Given the description of an element on the screen output the (x, y) to click on. 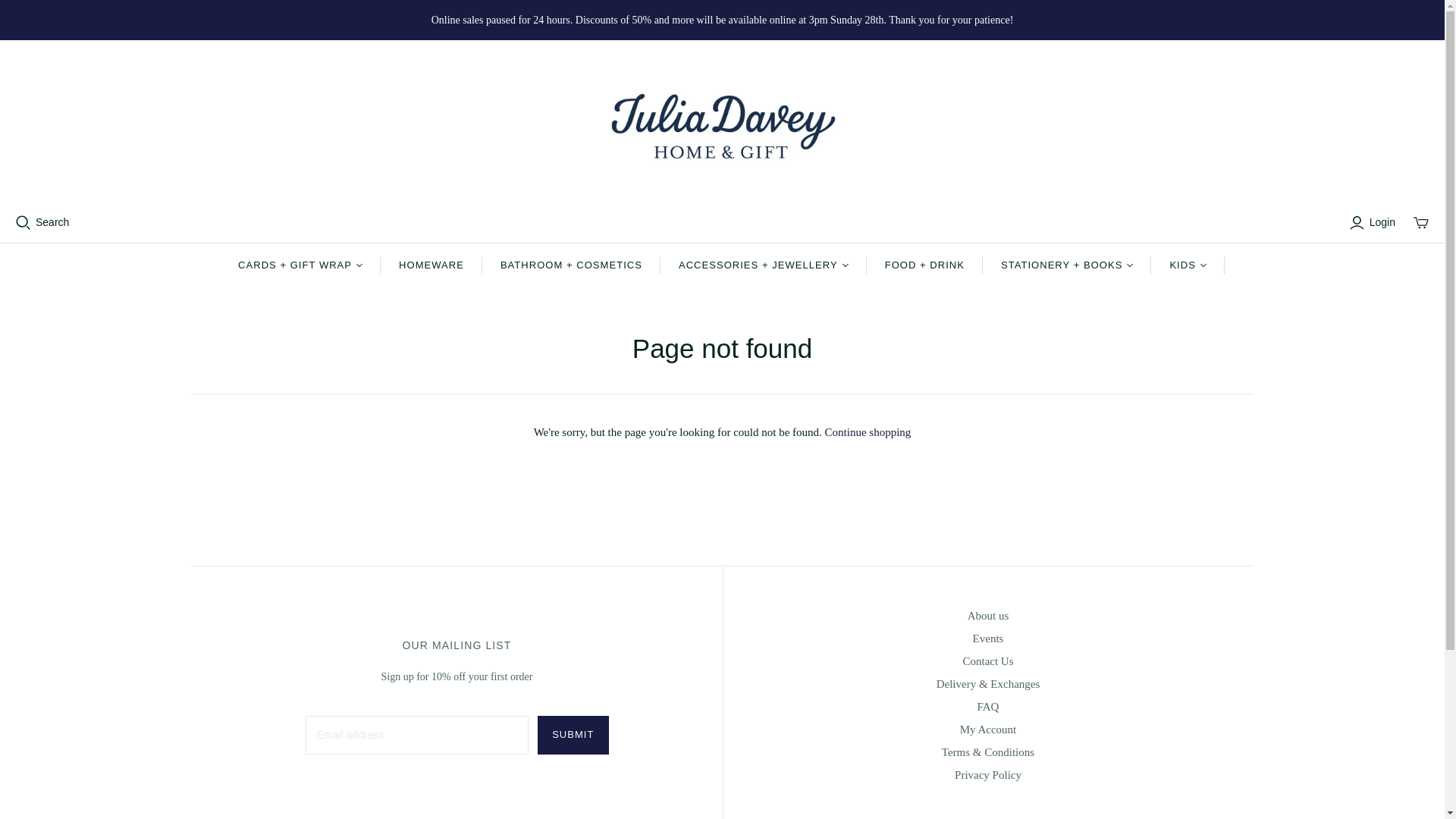
Login (1374, 222)
HOMEWARE (430, 265)
